Given the description of an element on the screen output the (x, y) to click on. 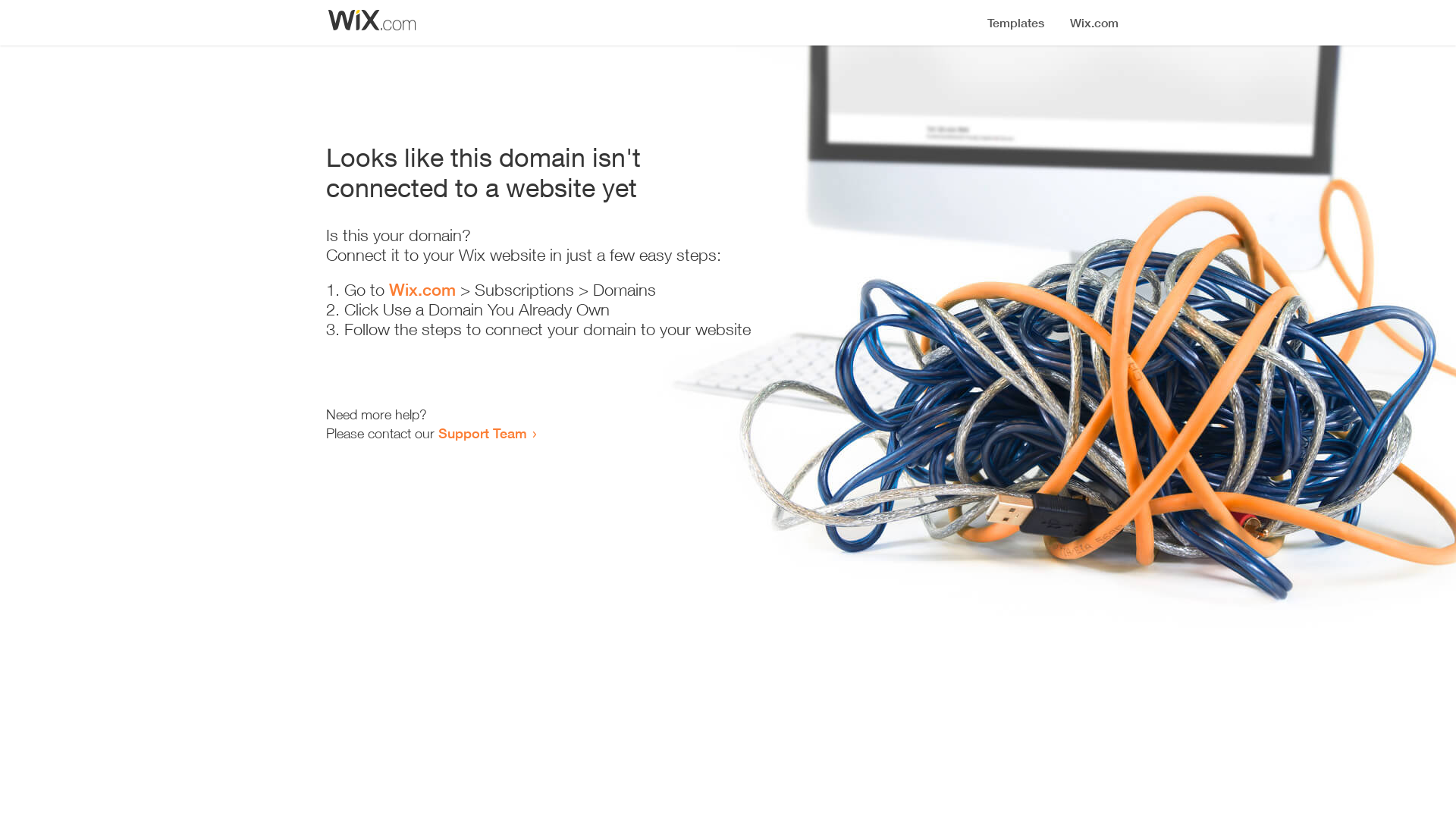
Wix.com Element type: text (422, 289)
Support Team Element type: text (482, 432)
